Given the description of an element on the screen output the (x, y) to click on. 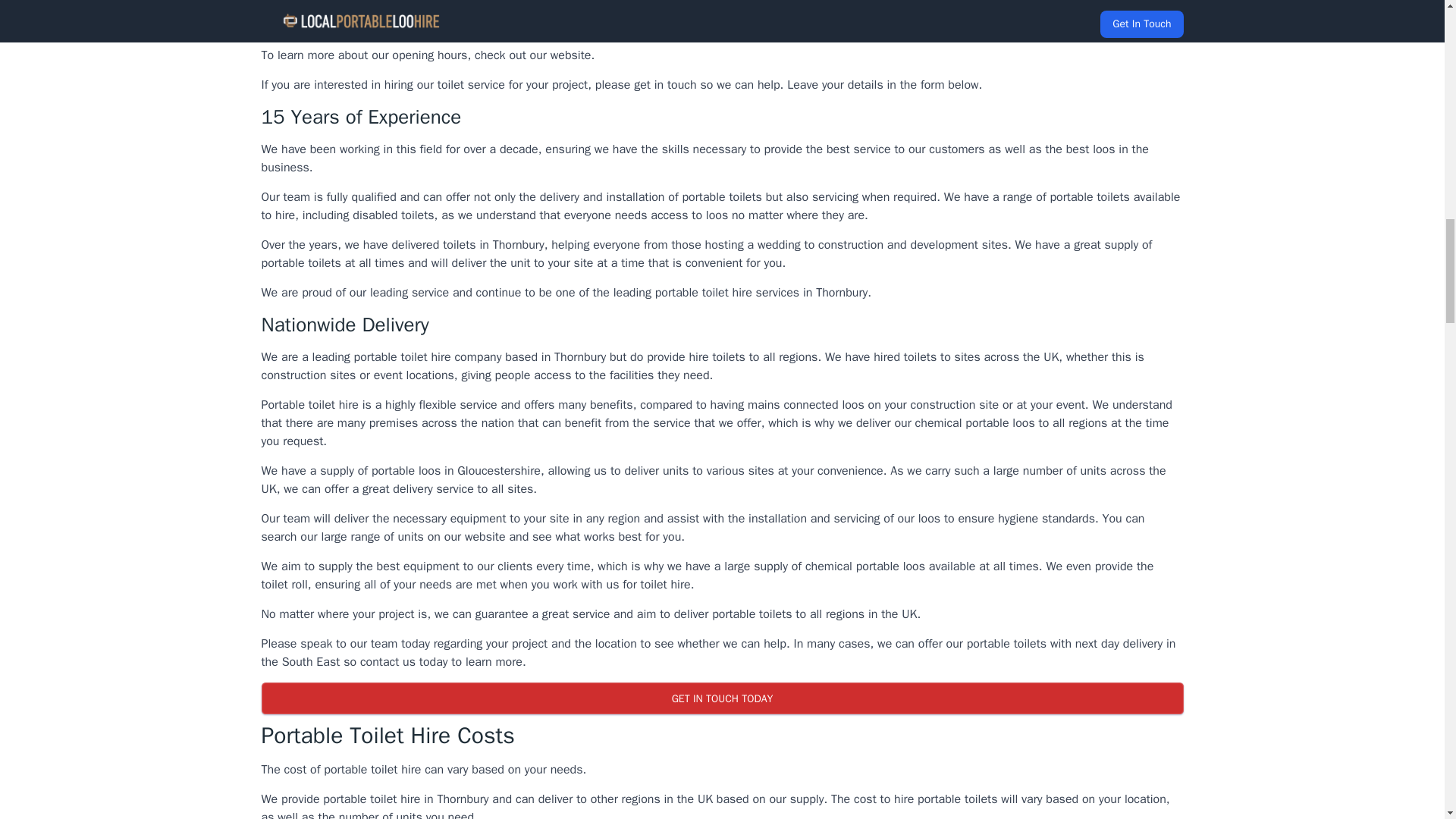
GET IN TOUCH TODAY (721, 698)
portable loos in Gloucestershire (455, 470)
